Given the description of an element on the screen output the (x, y) to click on. 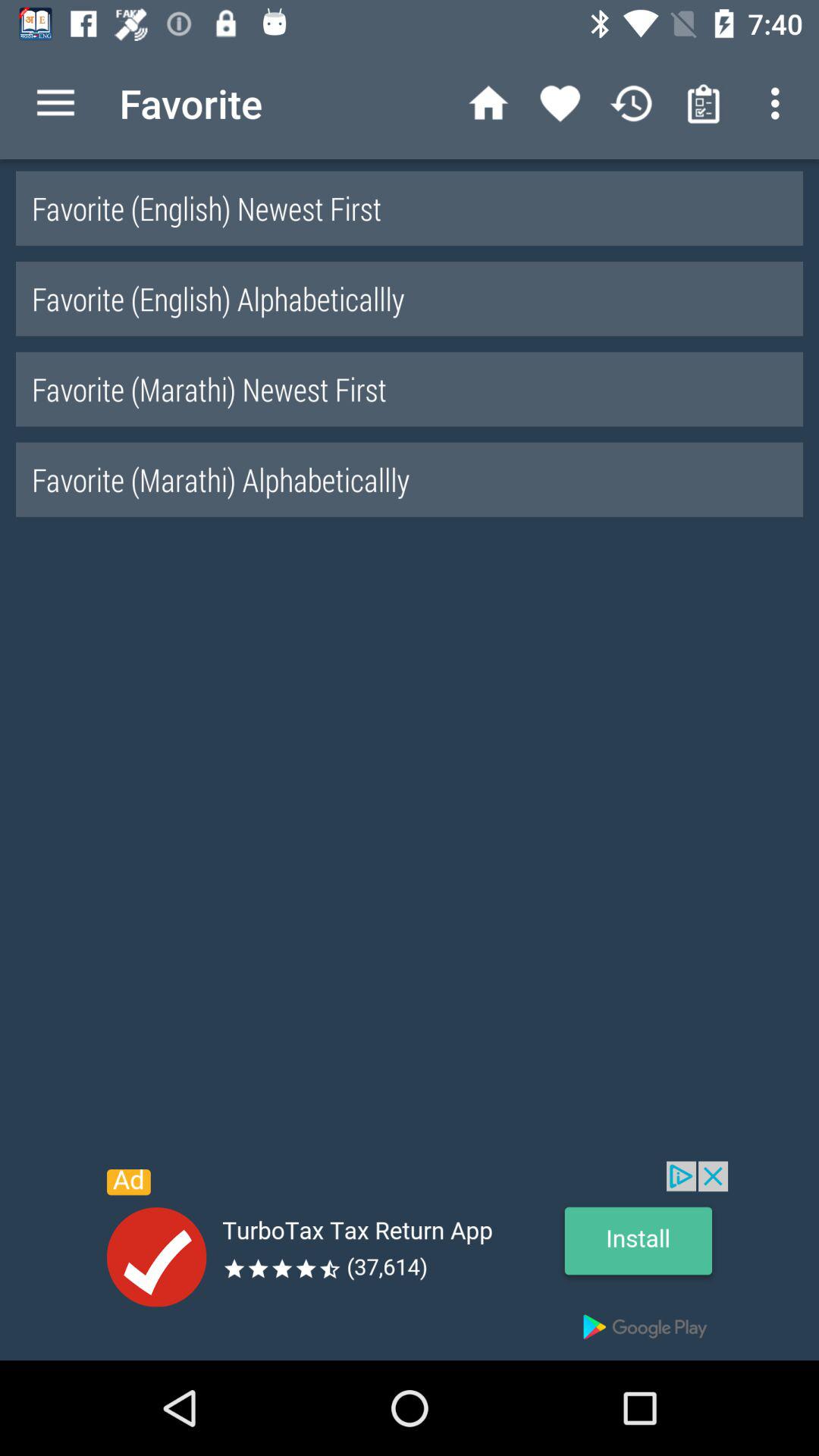
advertisement for turbo tax app (409, 1260)
